Given the description of an element on the screen output the (x, y) to click on. 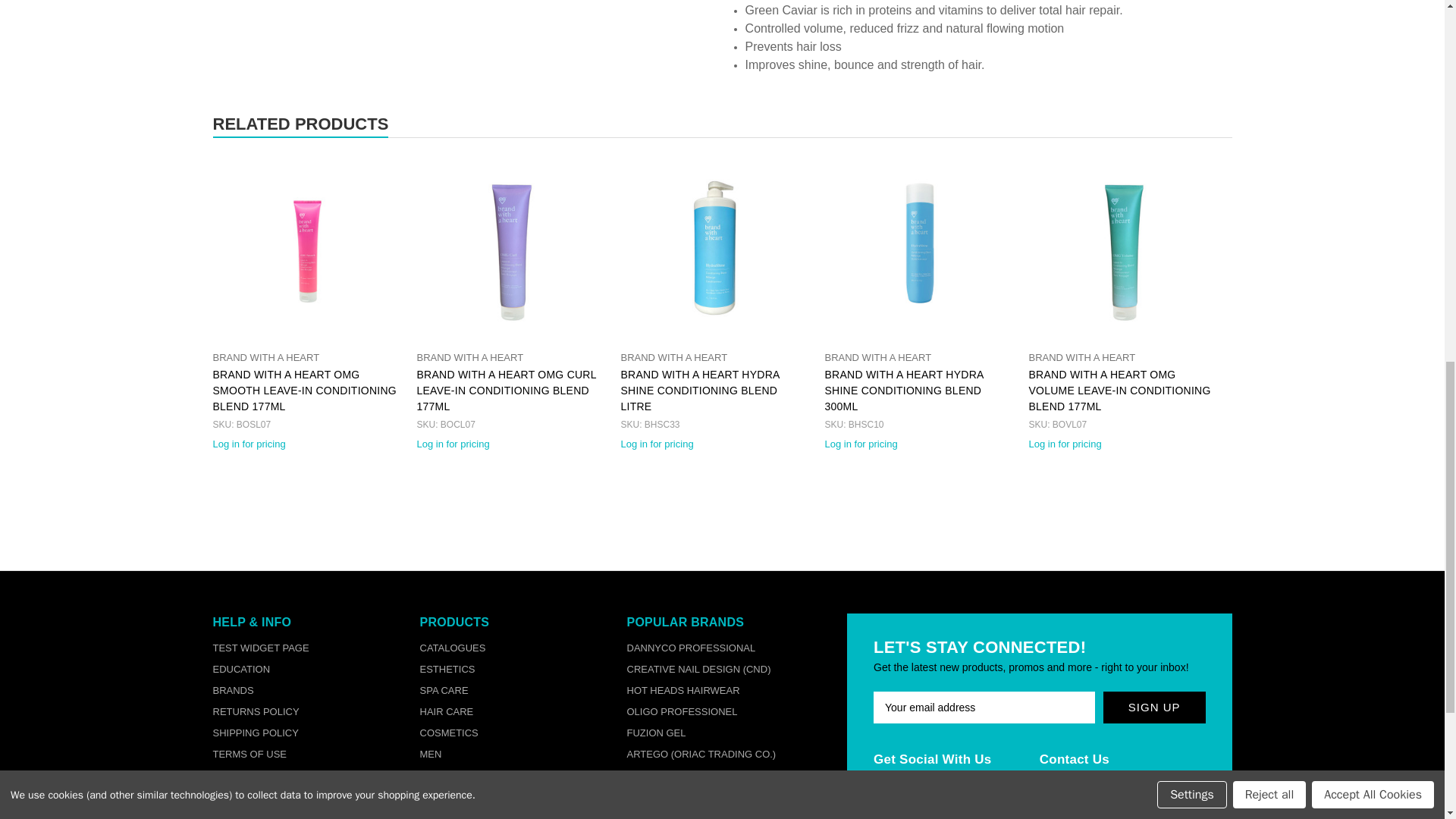
Sign Up (1154, 707)
BRAND WITH A HEART HYDRA SHINE CONDITIONING BLEND 300ML (918, 247)
BRAND WITH A HEART HYDRA SHINE CONDITIONING BLEND LITRE (714, 247)
